Given the description of an element on the screen output the (x, y) to click on. 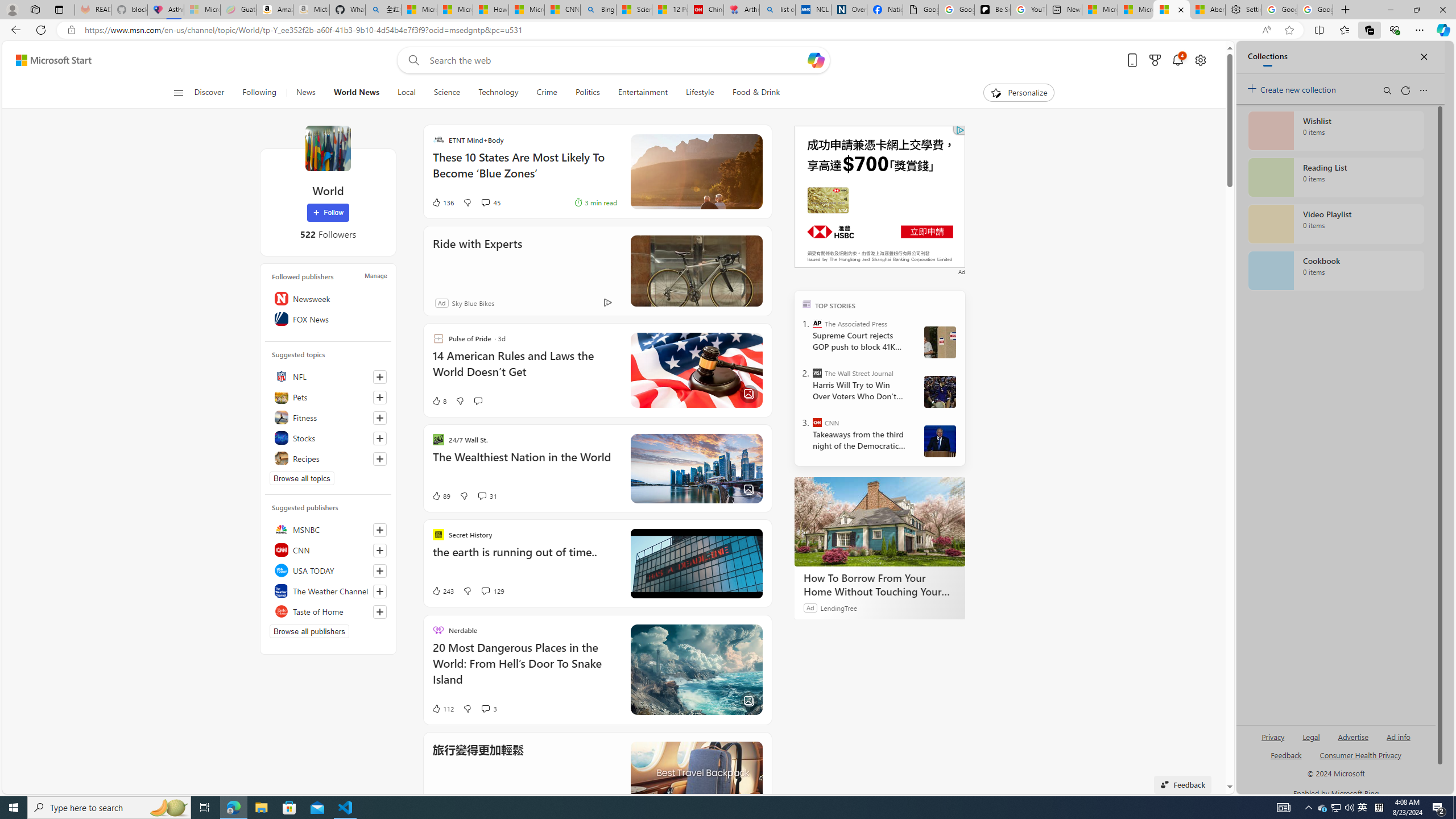
MSNBC (327, 529)
